Given the description of an element on the screen output the (x, y) to click on. 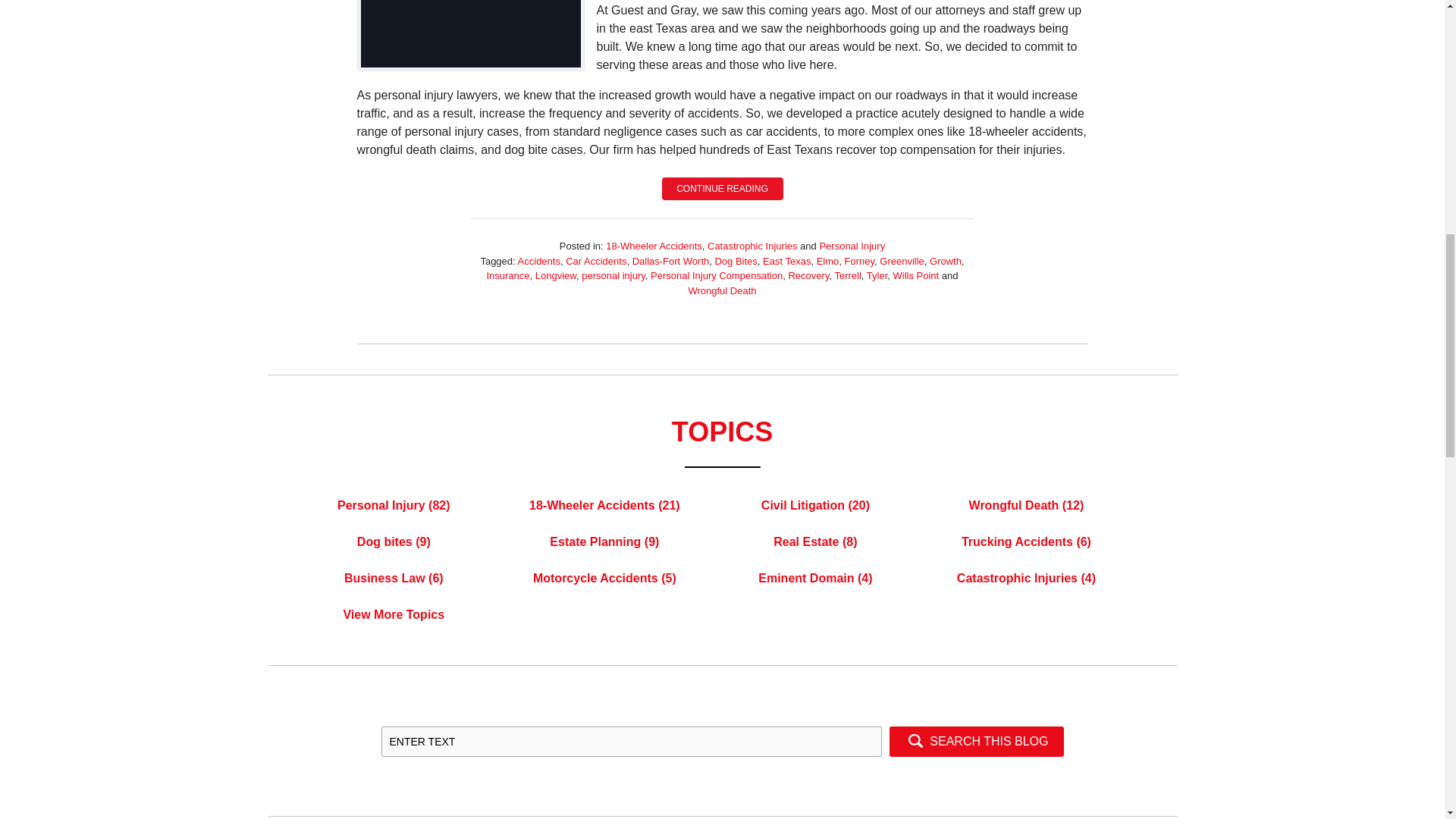
View all posts tagged with Forney (859, 260)
Forney (859, 260)
View all posts tagged with Longview (555, 275)
Accidents (539, 260)
Insurance (507, 275)
View all posts in Catastrophic Injuries (752, 245)
View all posts tagged with Insurance (507, 275)
View all posts in Personal Injury (851, 245)
CONTINUE READING (722, 188)
Elmo (828, 260)
View all posts tagged with East Texas (786, 260)
View all posts in 18-Wheeler Accidents (653, 245)
East Texas (786, 260)
View all posts tagged with Car Accidents (596, 260)
Car Accidents (596, 260)
